Given the description of an element on the screen output the (x, y) to click on. 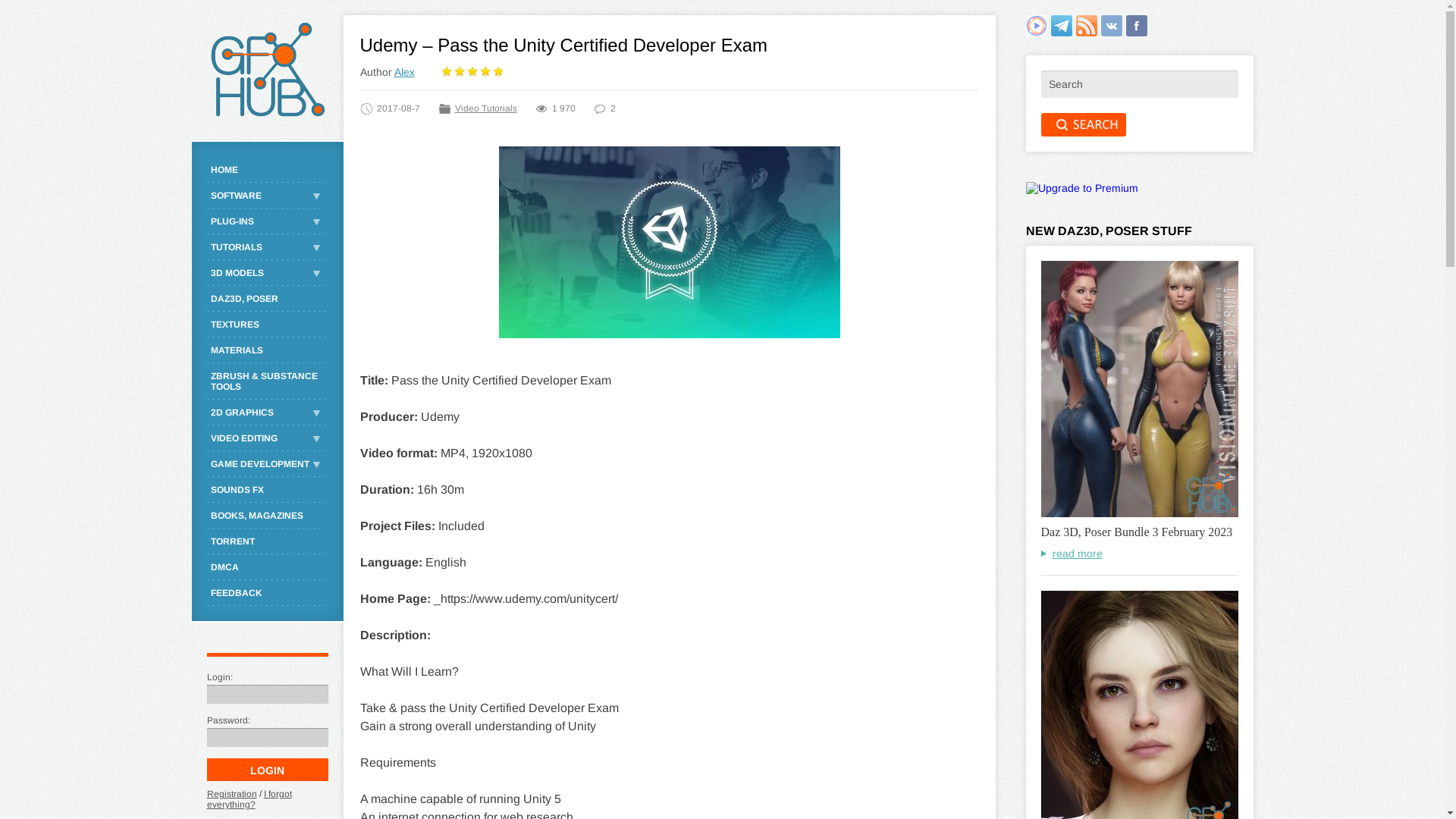
I forgot everything? Element type: text (248, 798)
2 Element type: text (459, 71)
ZBRUSH & SUBSTANCE TOOLS Element type: text (266, 381)
TEXTURES Element type: text (266, 324)
4 Element type: text (485, 71)
DAZ3D, POSER Element type: text (266, 298)
read more Element type: text (1070, 553)
TUTORIALS Element type: text (266, 247)
Password Element type: hover (266, 737)
Login: Element type: hover (266, 693)
VIDEO EDITING Element type: text (266, 438)
Free torrent download GFX-HUB content Element type: hover (1035, 25)
TORRENT Element type: text (266, 541)
GAME DEVELOPMENT Element type: text (266, 463)
3 Element type: text (471, 71)
5 Element type: text (497, 71)
Registration Element type: text (231, 793)
LOGIN Element type: text (266, 769)
DMCA Element type: text (266, 567)
SOUNDS FX Element type: text (266, 489)
MATERIALS Element type: text (266, 350)
1 Element type: text (445, 71)
BOOKS, MAGAZINES Element type: text (266, 515)
HOME Element type: text (266, 169)
3D MODELS Element type: text (266, 272)
2D GRAPHICS Element type: text (266, 412)
FEEDBACK Element type: text (266, 592)
Video Tutorials Element type: text (486, 108)
SOFTWARE Element type: text (266, 195)
Alex Element type: text (404, 71)
PLUG-INS Element type: text (266, 221)
type your request and press enter. Element type: hover (1138, 83)
Daz 3D, Poser Bundle 3 February 2023 Element type: text (1136, 531)
